Given the description of an element on the screen output the (x, y) to click on. 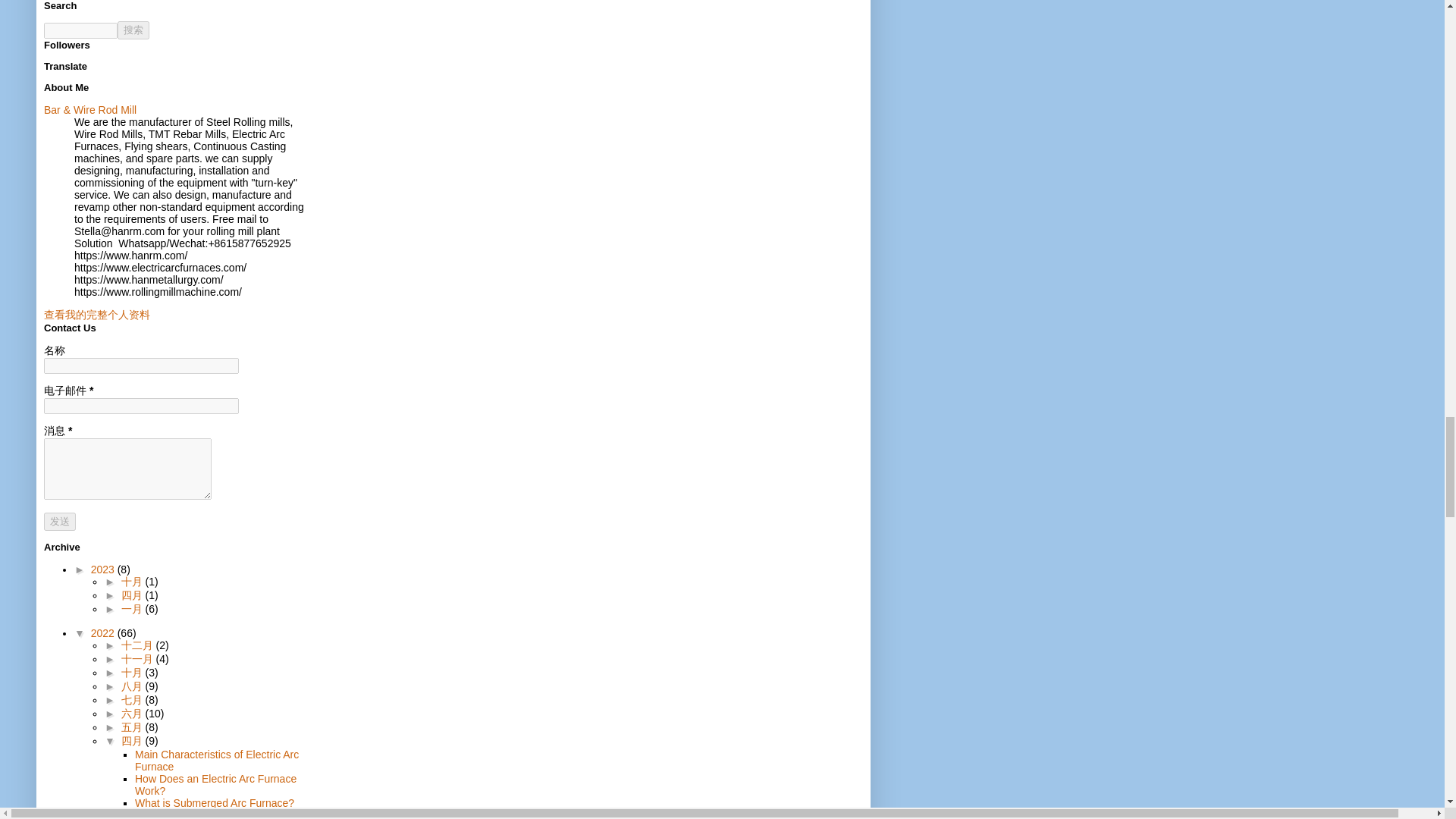
search (80, 30)
search (133, 30)
